Given the description of an element on the screen output the (x, y) to click on. 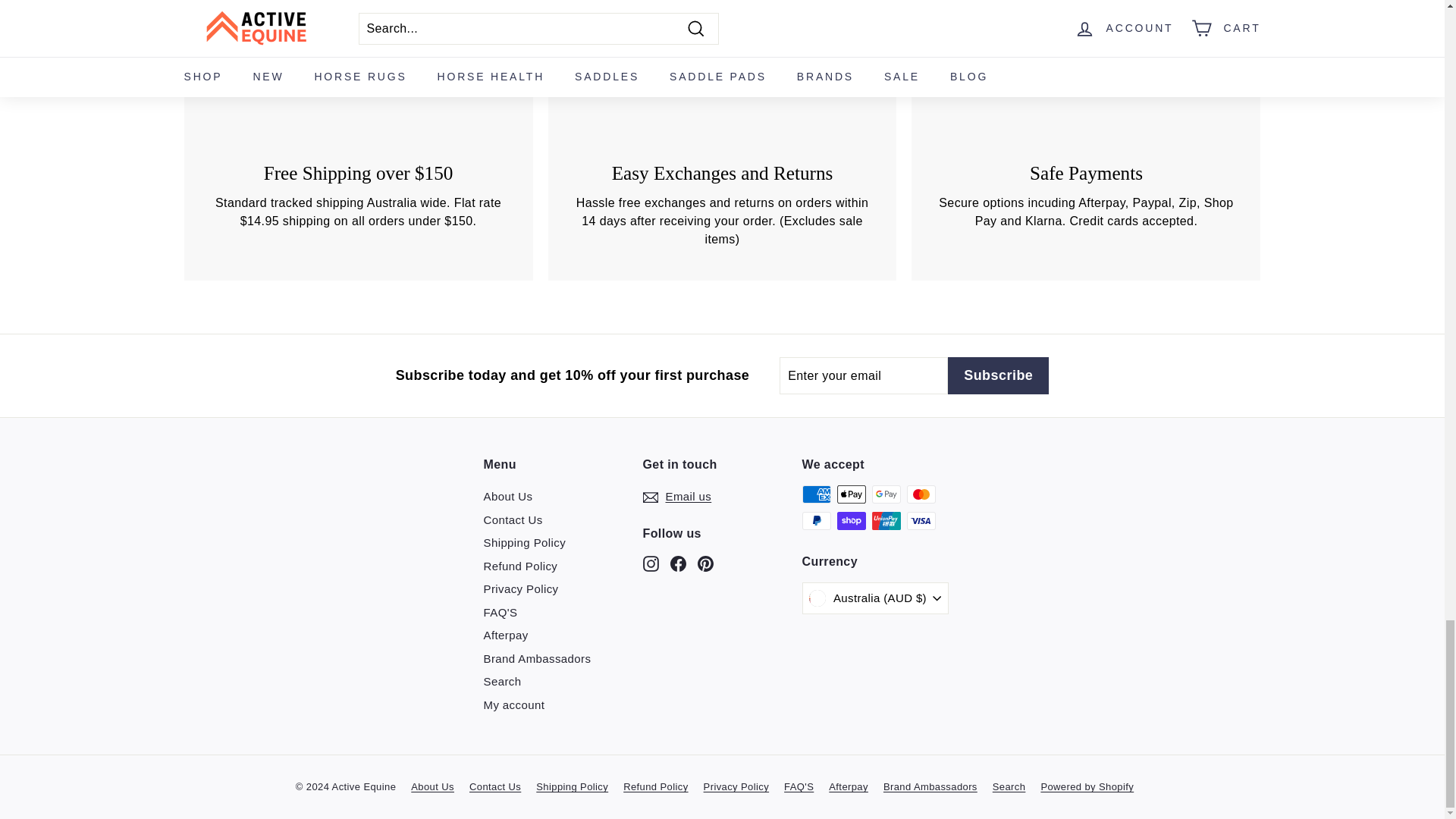
American Express (816, 494)
Mastercard (921, 494)
Active Equine on Pinterest (705, 562)
PayPal (816, 520)
Active Equine on Facebook (677, 562)
Google Pay (886, 494)
Apple Pay (851, 494)
Active Equine on Instagram (651, 562)
